Given the description of an element on the screen output the (x, y) to click on. 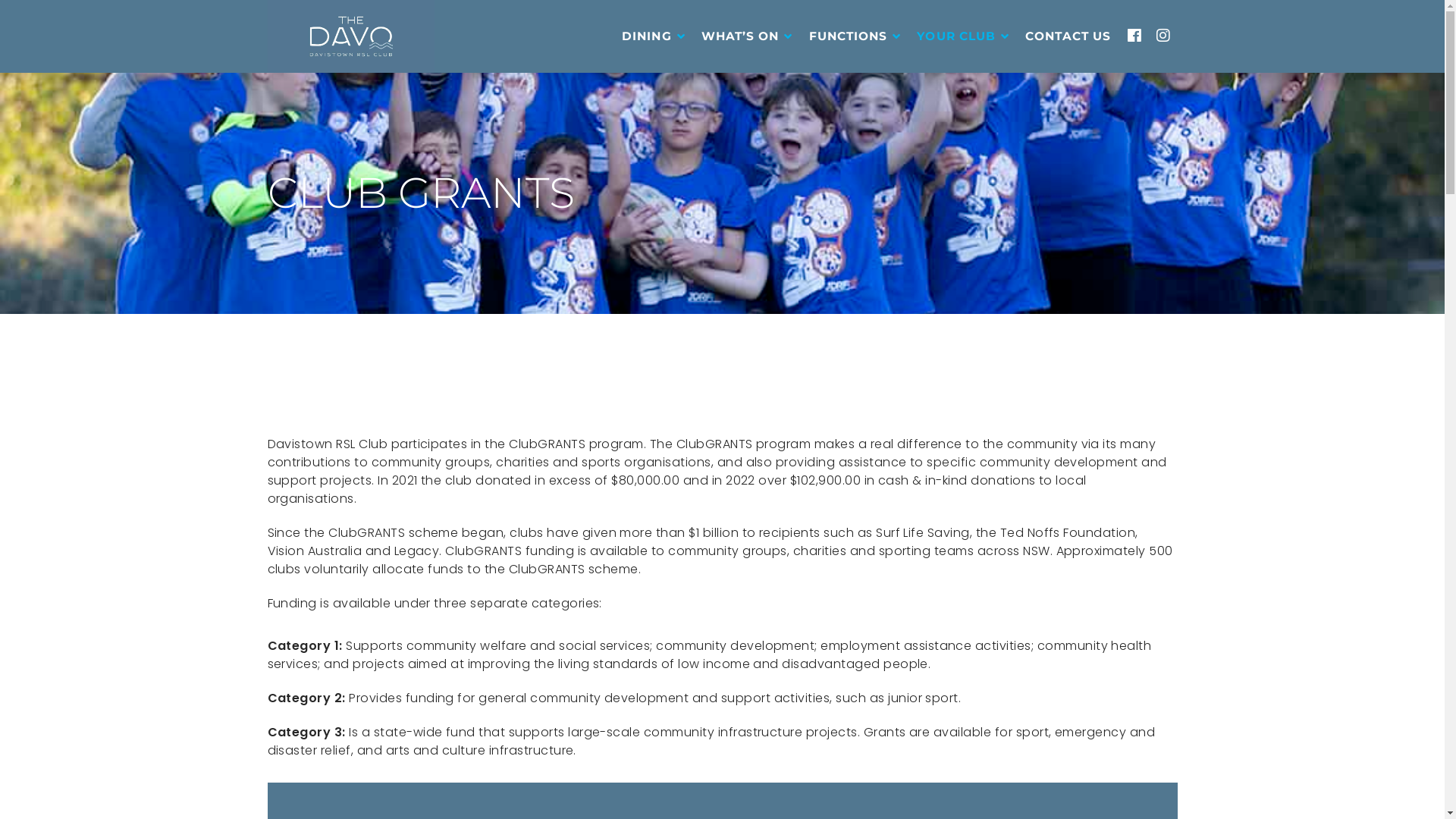
FUNCTIONS Element type: text (853, 36)
CONTACT US Element type: text (1068, 36)
YOUR CLUB Element type: text (961, 36)
DINING Element type: text (652, 36)
